Given the description of an element on the screen output the (x, y) to click on. 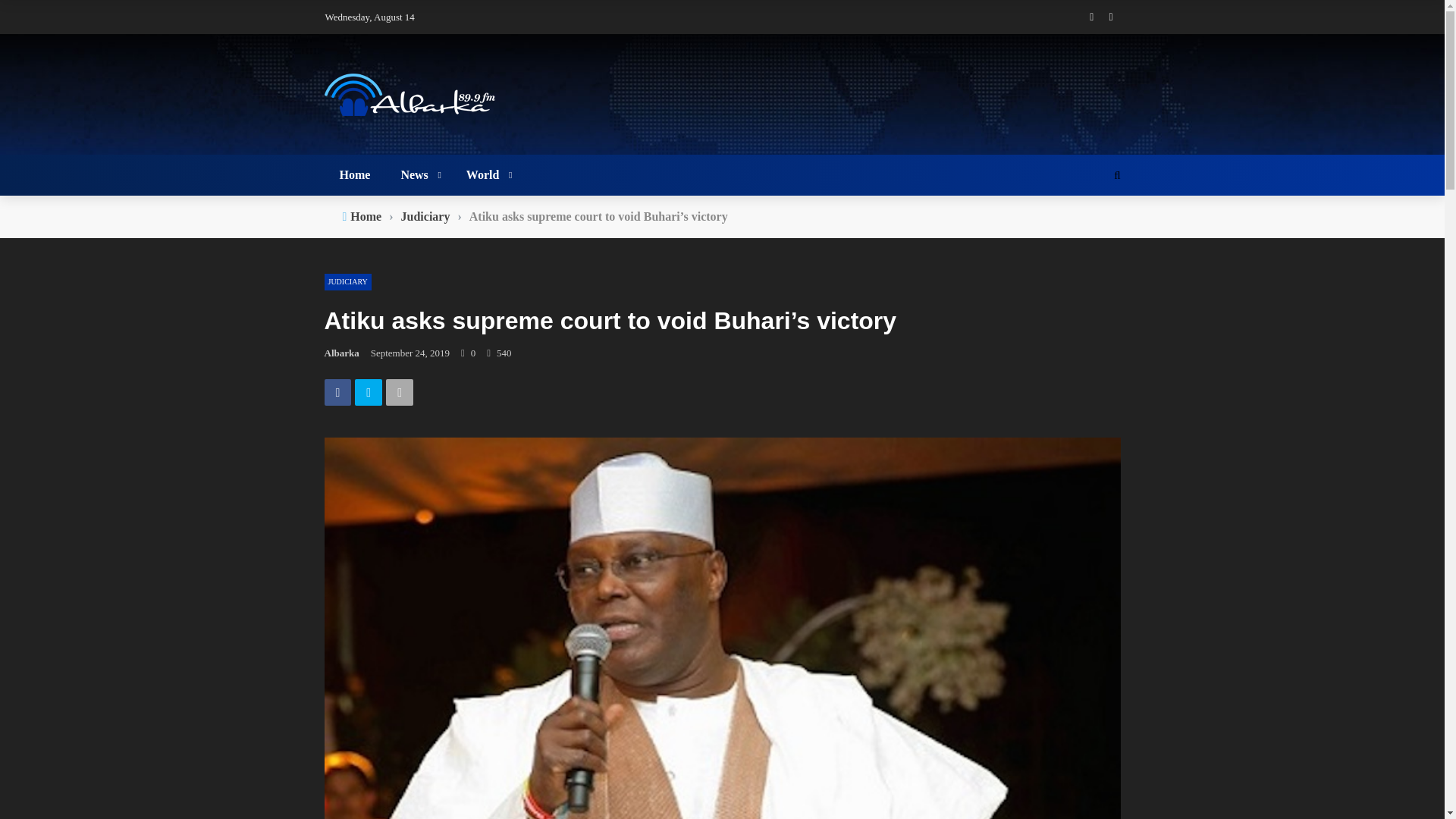
JUDICIARY (347, 281)
Judiciary (425, 217)
Home (365, 217)
News (417, 174)
Home (354, 174)
World (486, 174)
Albarka (341, 352)
